Given the description of an element on the screen output the (x, y) to click on. 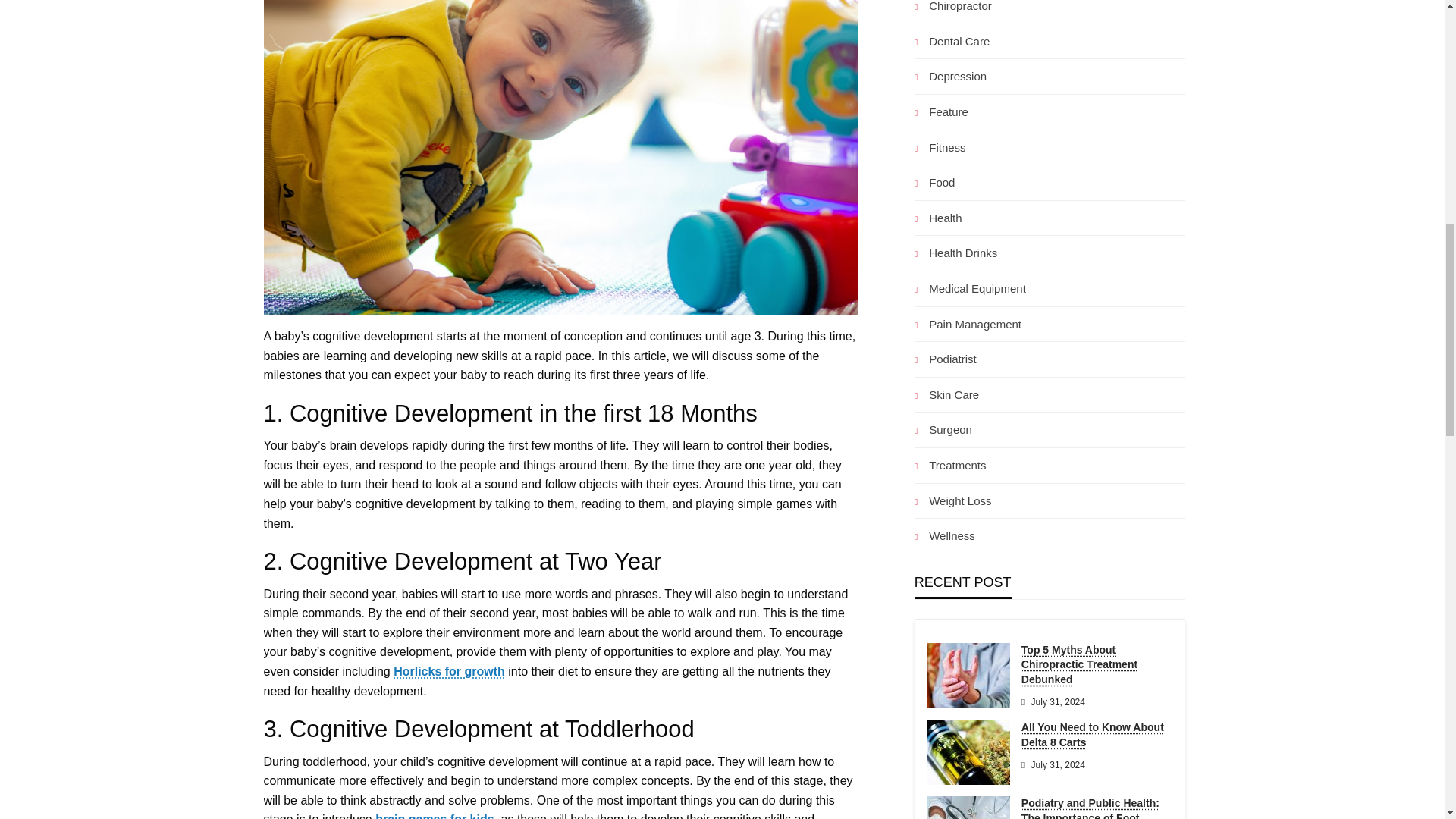
Dental Care (952, 41)
Depression (950, 76)
Chiropractor (952, 7)
Fitness (940, 147)
Feature (941, 111)
Horlicks for growth (449, 671)
brain games for kids (435, 816)
